Given the description of an element on the screen output the (x, y) to click on. 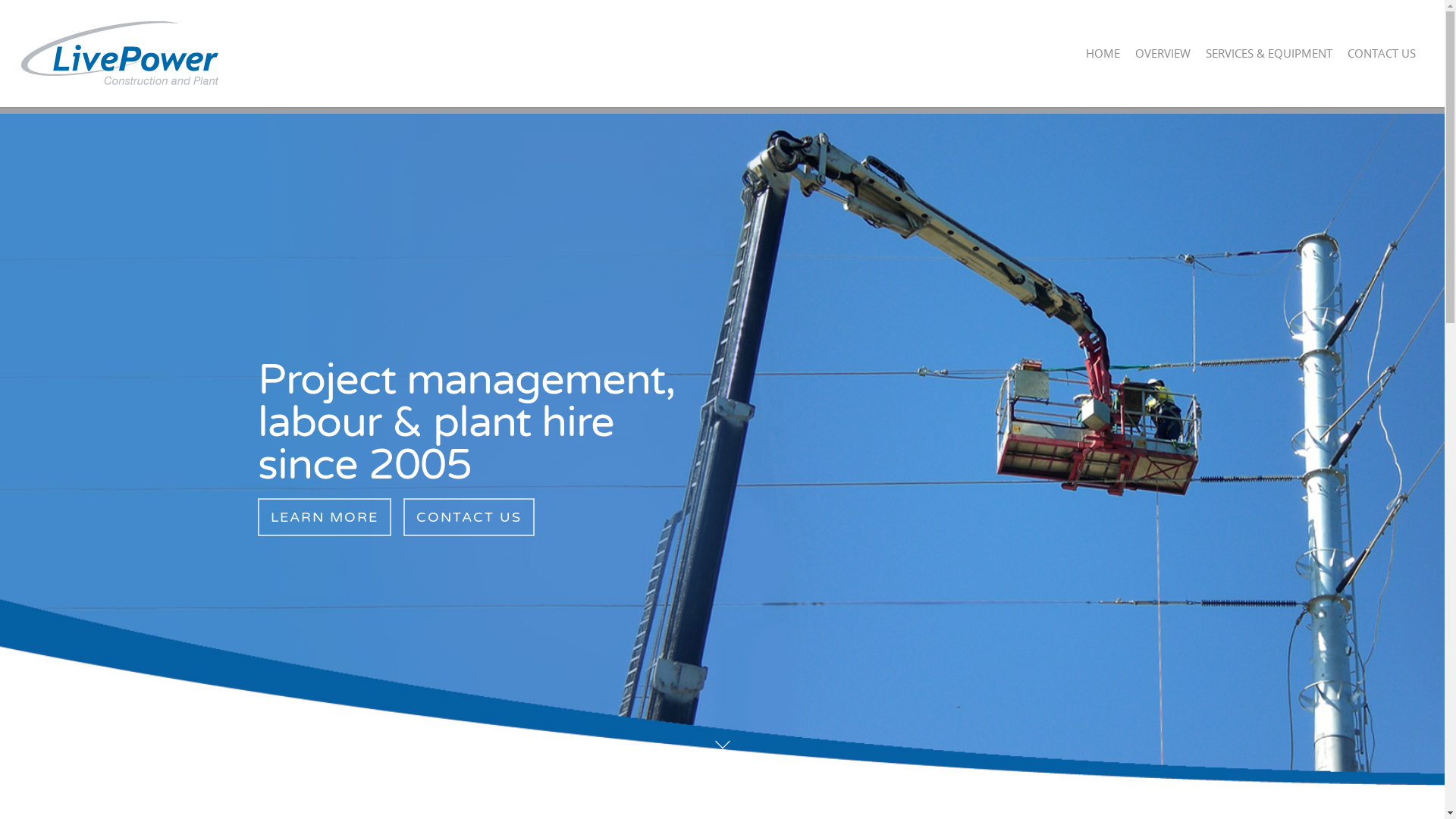
SERVICES & EQUIPMENT Element type: text (1268, 63)
OVERVIEW Element type: text (1162, 63)
CONTACT US Element type: text (468, 517)
CONTACT US Element type: text (1381, 63)
LEARN MORE Element type: text (324, 517)
HOME Element type: text (1102, 63)
